Given the description of an element on the screen output the (x, y) to click on. 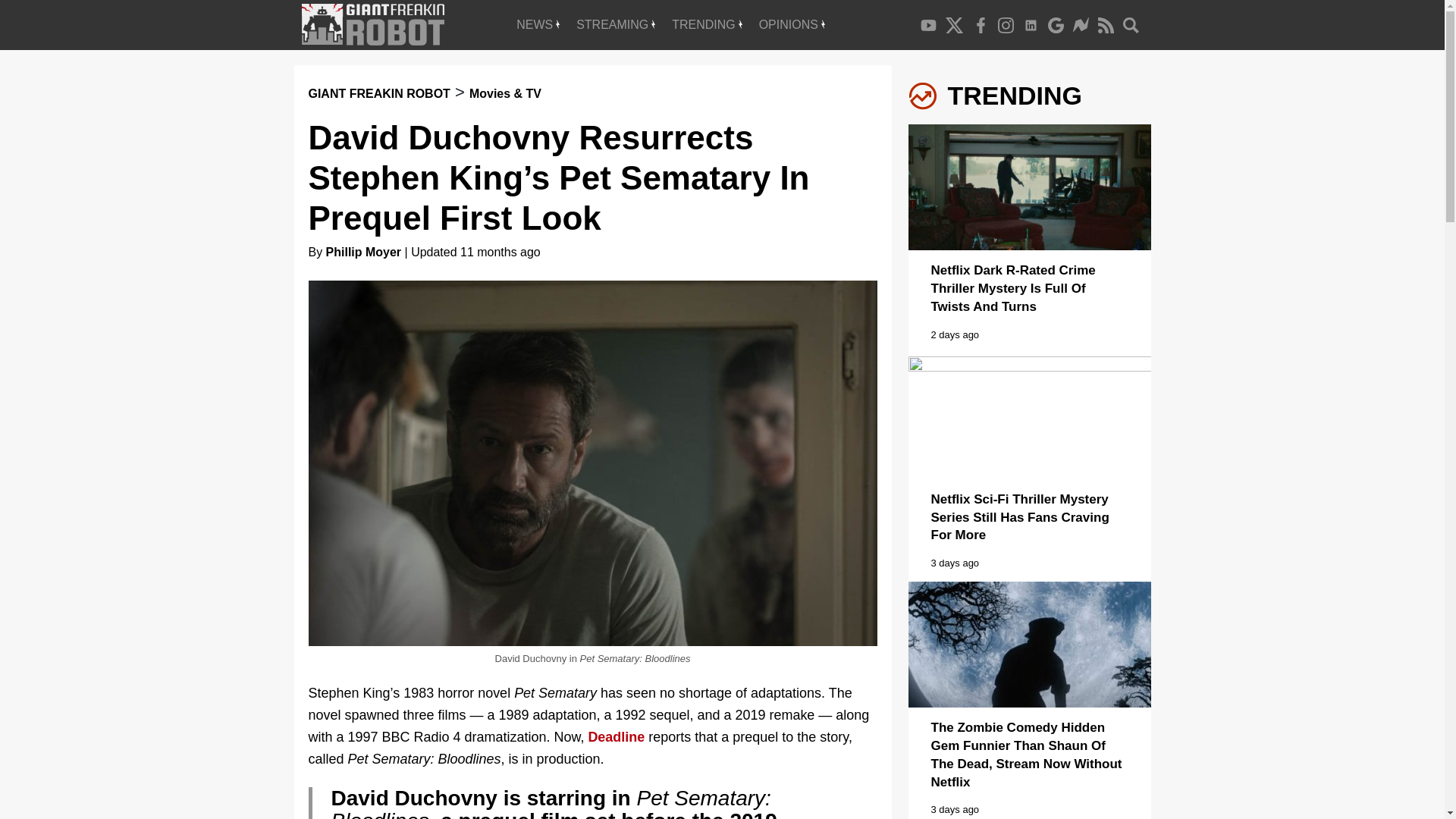
TRENDING (706, 24)
Phillip Moyer (363, 251)
STREAMING (615, 24)
NEWS (537, 24)
Entertainment News (537, 24)
OPINIONS (791, 24)
GIANT FREAKIN ROBOT (378, 92)
Trending (706, 24)
Streaming (615, 24)
